Given the description of an element on the screen output the (x, y) to click on. 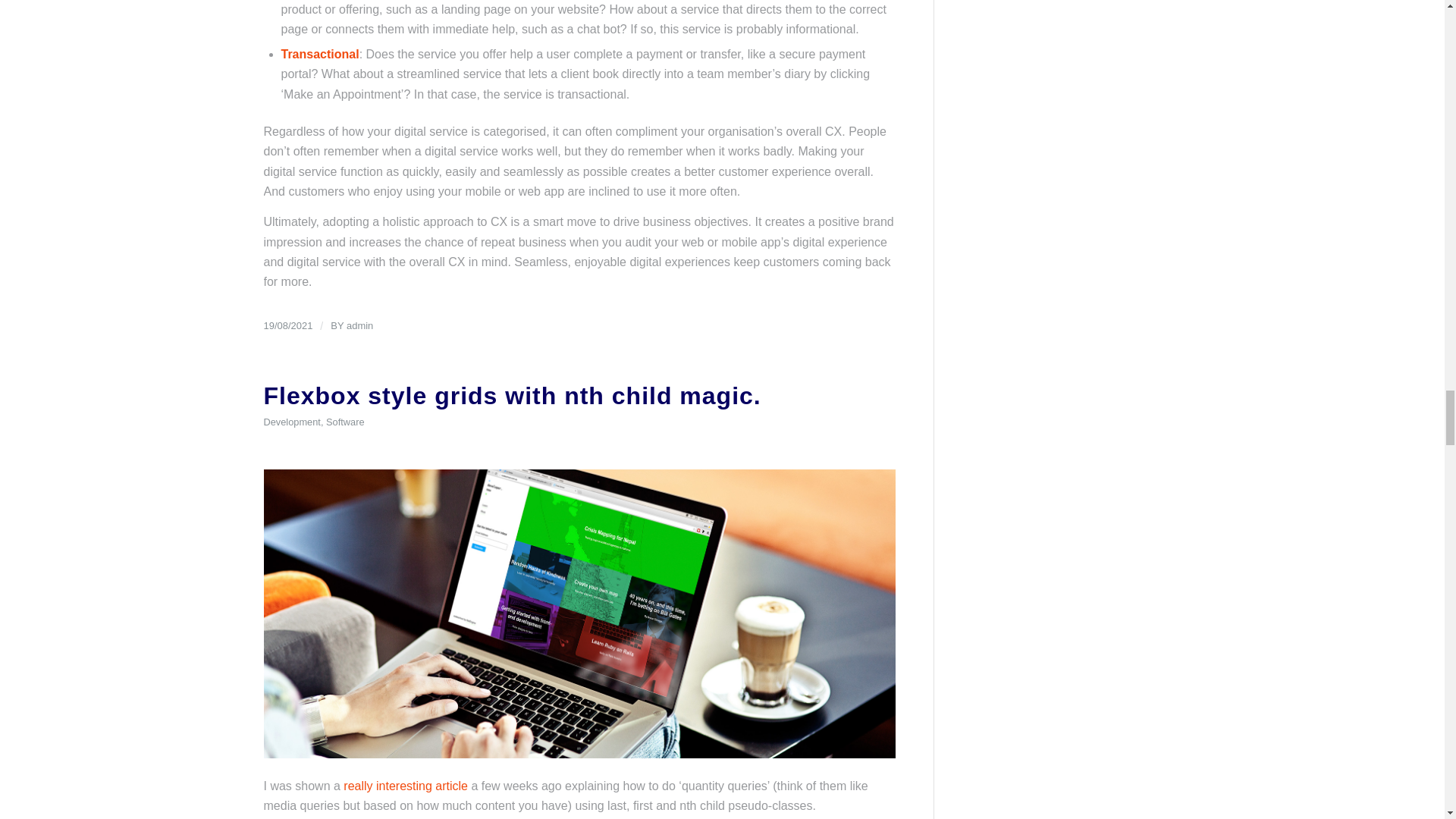
Posts by admin (359, 325)
Permanent Link: Flexbox style grids with nth child magic. (512, 395)
